Given the description of an element on the screen output the (x, y) to click on. 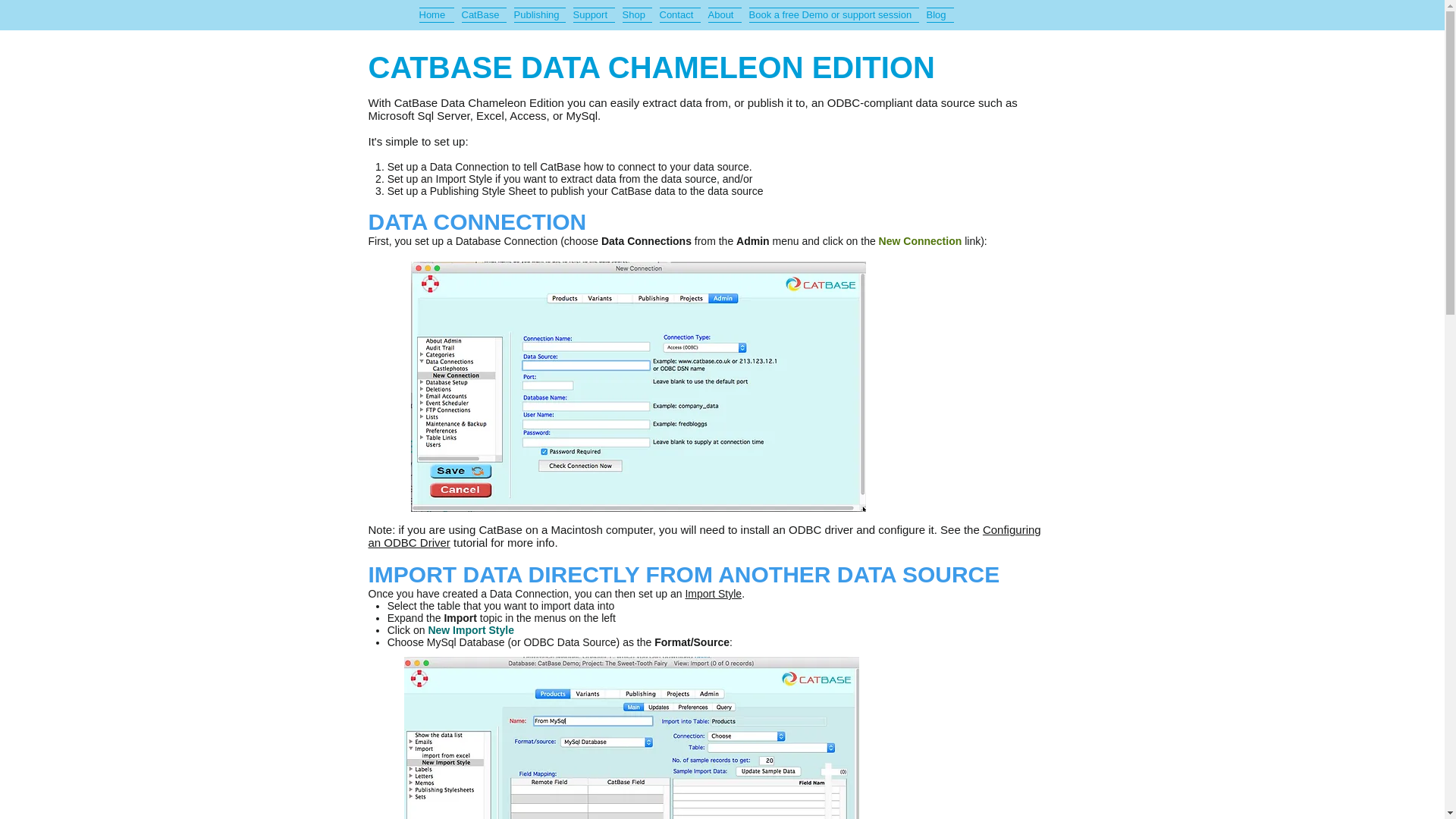
Import Style (712, 593)
Book a free Demo or support session (832, 11)
About (723, 11)
Home (438, 11)
Blog (937, 11)
